Given the description of an element on the screen output the (x, y) to click on. 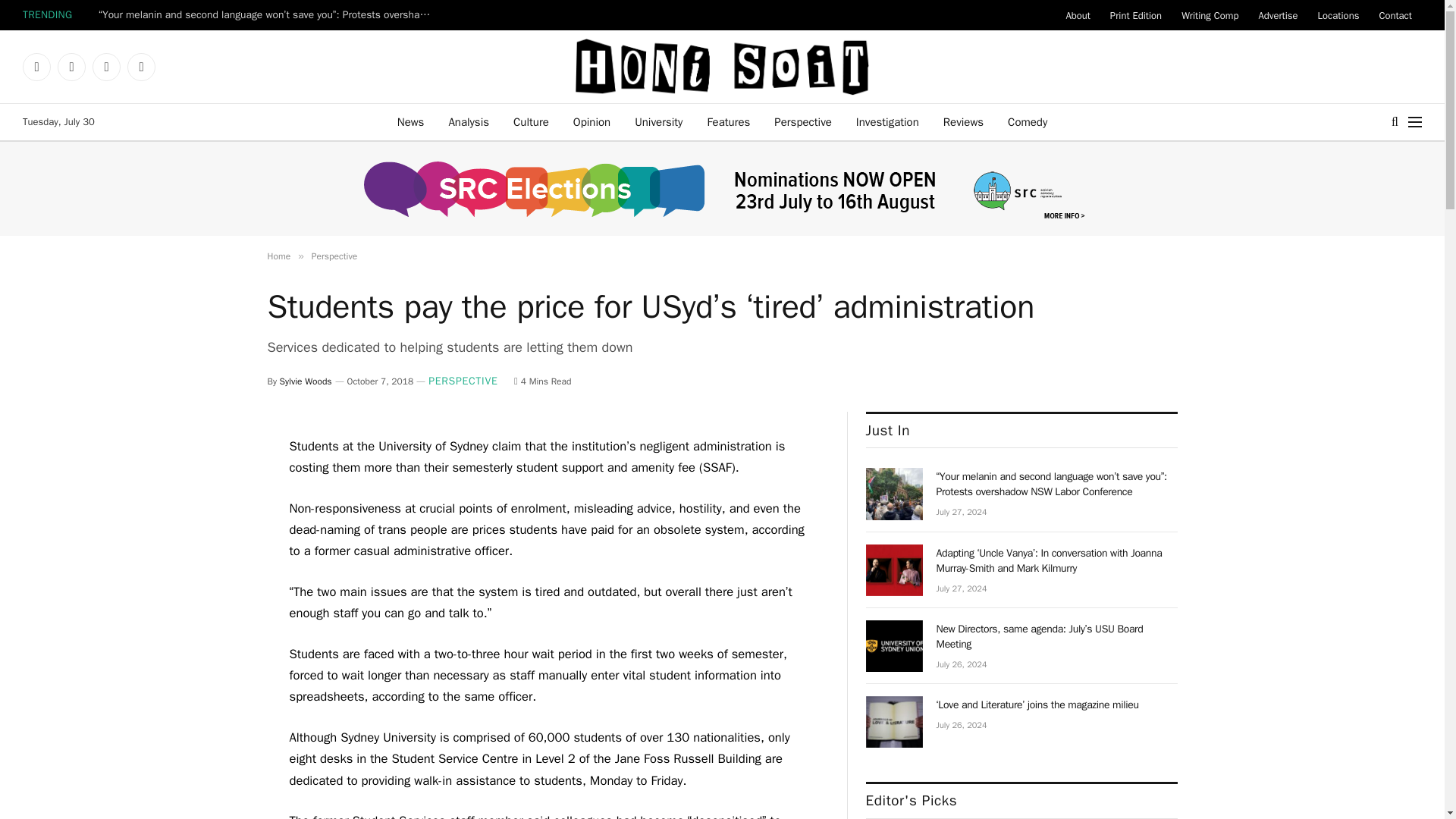
About (1077, 15)
Perspective (802, 122)
Posts by Sylvie Woods (305, 381)
Investigation (887, 122)
Honi Soit (722, 66)
Culture (530, 122)
Comedy (1027, 122)
Home (277, 256)
Analysis (467, 122)
Reviews (963, 122)
Features (727, 122)
Contact (1395, 15)
Writing Comp (1209, 15)
Instagram (71, 67)
University (658, 122)
